Given the description of an element on the screen output the (x, y) to click on. 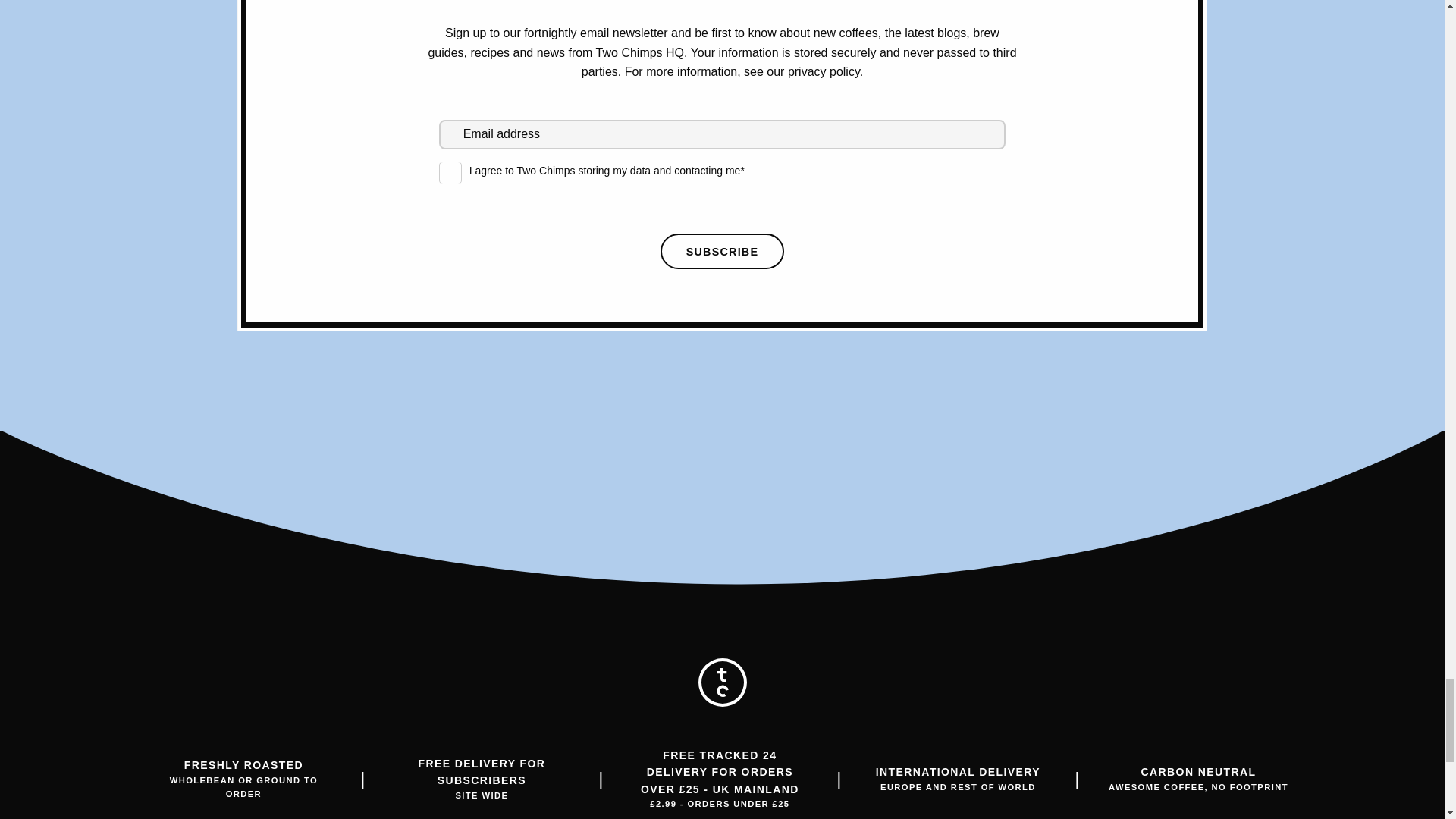
Subscribe (722, 251)
